Given the description of an element on the screen output the (x, y) to click on. 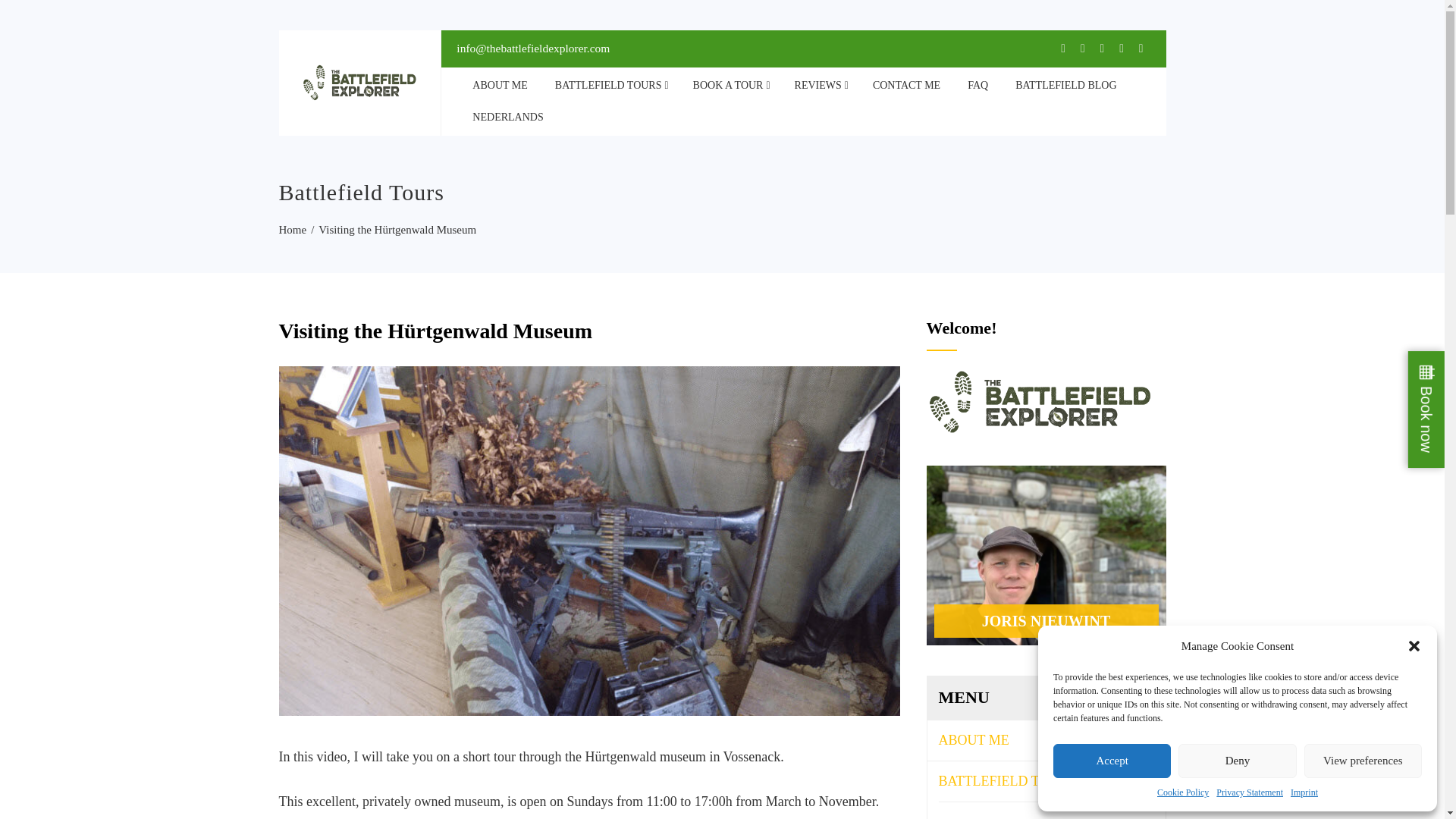
Imprint (1303, 792)
Cookie Policy (1182, 792)
Deny (1236, 760)
View preferences (1363, 760)
Privacy Statement (1248, 792)
Accept (1111, 760)
ABOUT ME (499, 85)
BATTLEFIELD TOURS (610, 85)
